Given the description of an element on the screen output the (x, y) to click on. 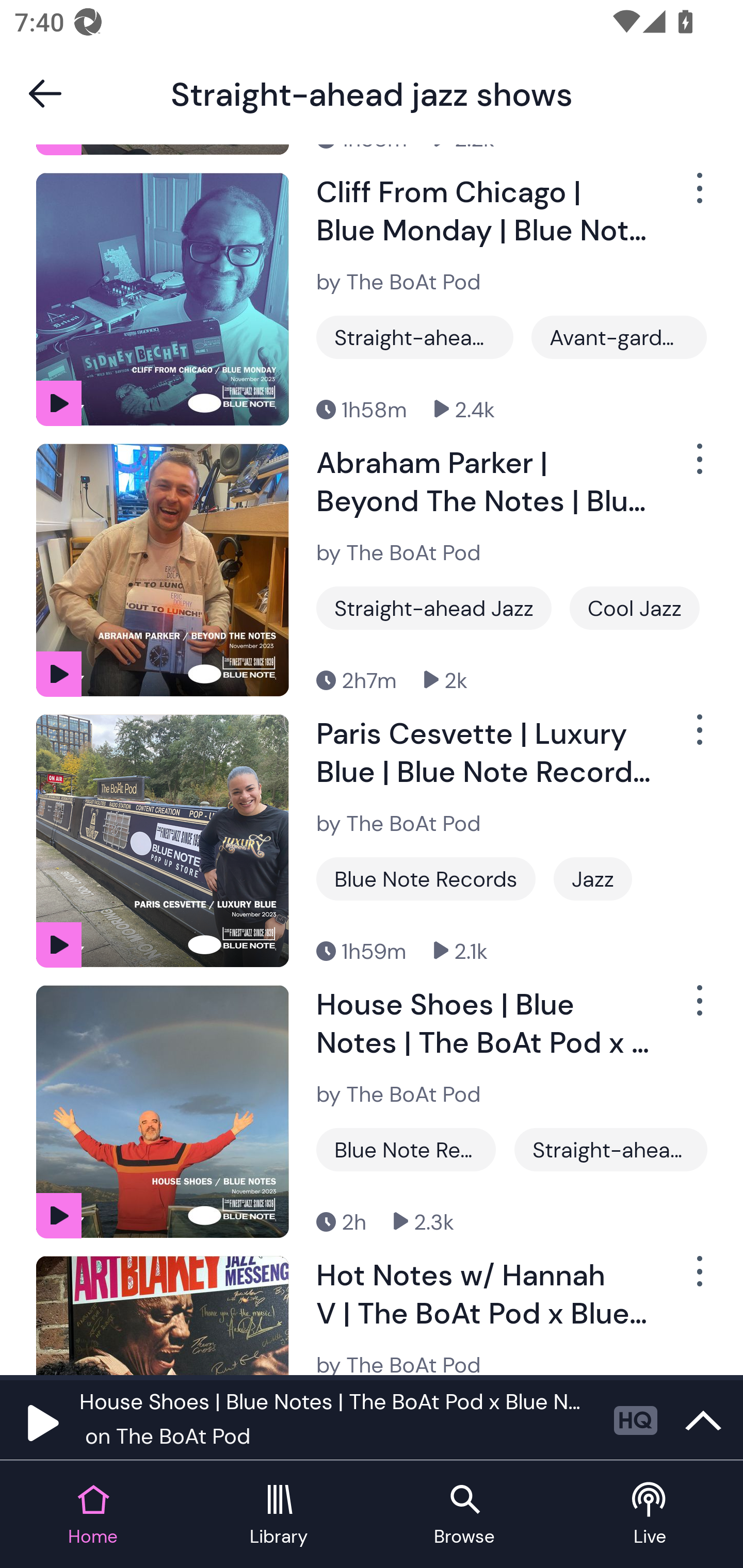
Show Options Menu Button (697, 195)
Straight-ahead Jazz (414, 337)
Avant-garde Jazz (618, 337)
Show Options Menu Button (697, 466)
Straight-ahead Jazz (433, 608)
Cool Jazz (634, 608)
Show Options Menu Button (697, 738)
Blue Note Records (425, 878)
Jazz (592, 878)
Show Options Menu Button (697, 1007)
Blue Note Records (405, 1149)
Straight-ahead Jazz (610, 1149)
Show Options Menu Button (697, 1279)
Home tab Home (92, 1515)
Library tab Library (278, 1515)
Browse tab Browse (464, 1515)
Live tab Live (650, 1515)
